Given the description of an element on the screen output the (x, y) to click on. 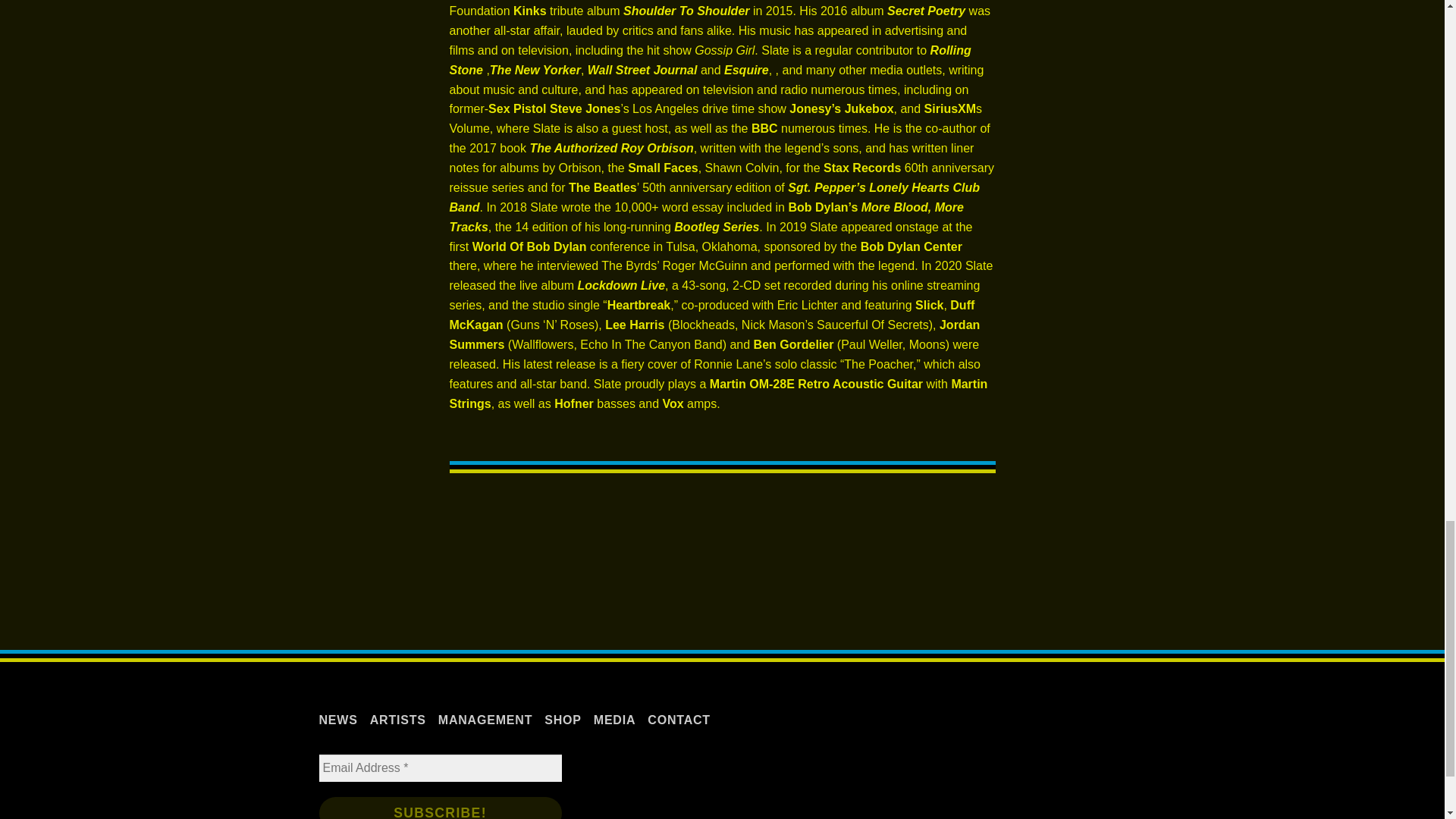
Subscribe! (440, 807)
CONTACT (678, 719)
MEDIA (615, 719)
Email Address (440, 768)
Subscribe! (440, 807)
NEWS (338, 719)
SHOP (562, 719)
ARTISTS (397, 719)
MANAGEMENT (485, 719)
